Given the description of an element on the screen output the (x, y) to click on. 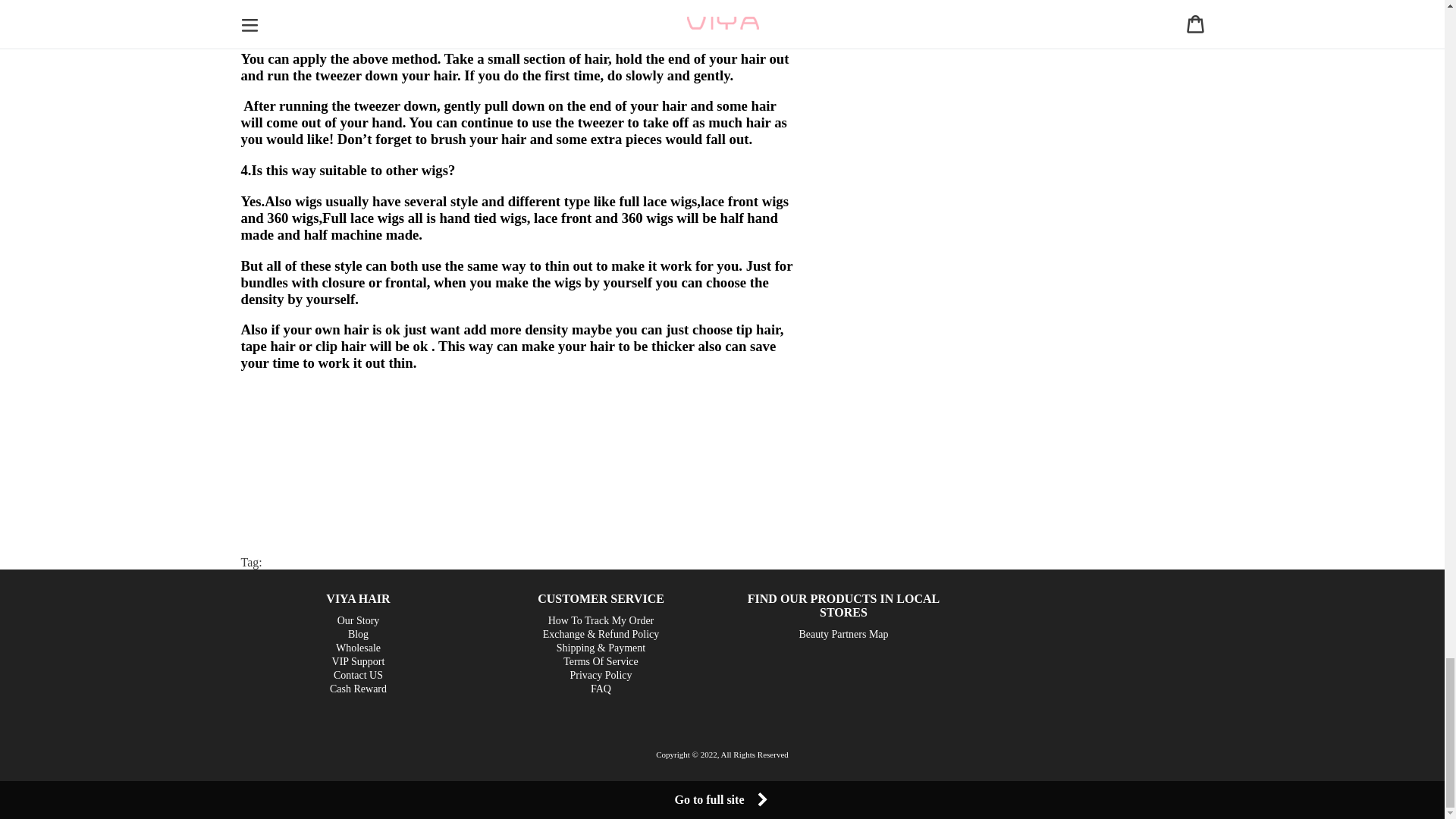
Privacy Policy (600, 674)
Terms Of Service (601, 661)
Wholesale (358, 647)
Wholesale (358, 647)
Beauty partners Map (842, 633)
Cash Reward (358, 688)
VIP support (358, 661)
Cash Reward (358, 688)
VIP Support (358, 661)
Privacy Policy (600, 674)
Find Our Products In Local Stores (843, 605)
full lace wigs (657, 201)
Terms Of Service (601, 661)
Our Story (358, 620)
Contact US (357, 674)
